Given the description of an element on the screen output the (x, y) to click on. 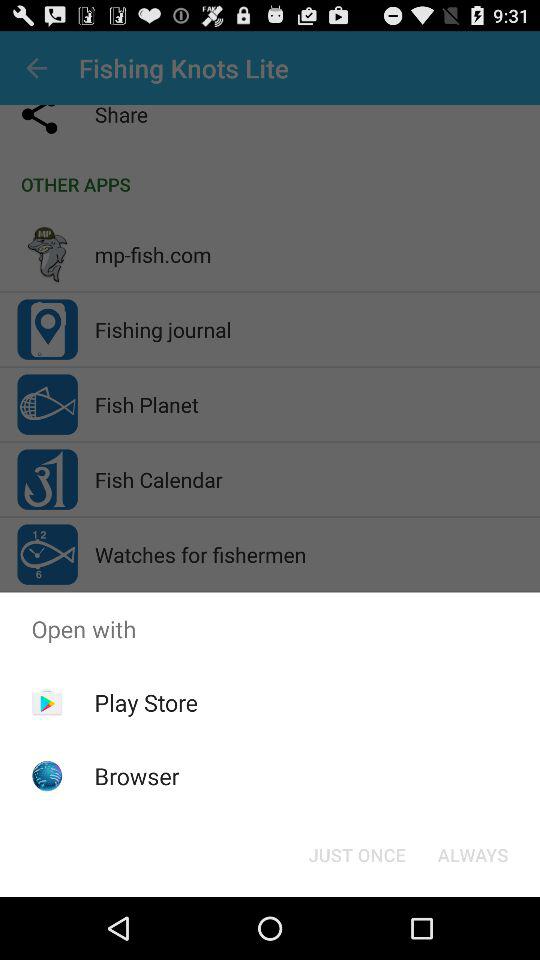
tap the button to the left of the always icon (356, 854)
